Given the description of an element on the screen output the (x, y) to click on. 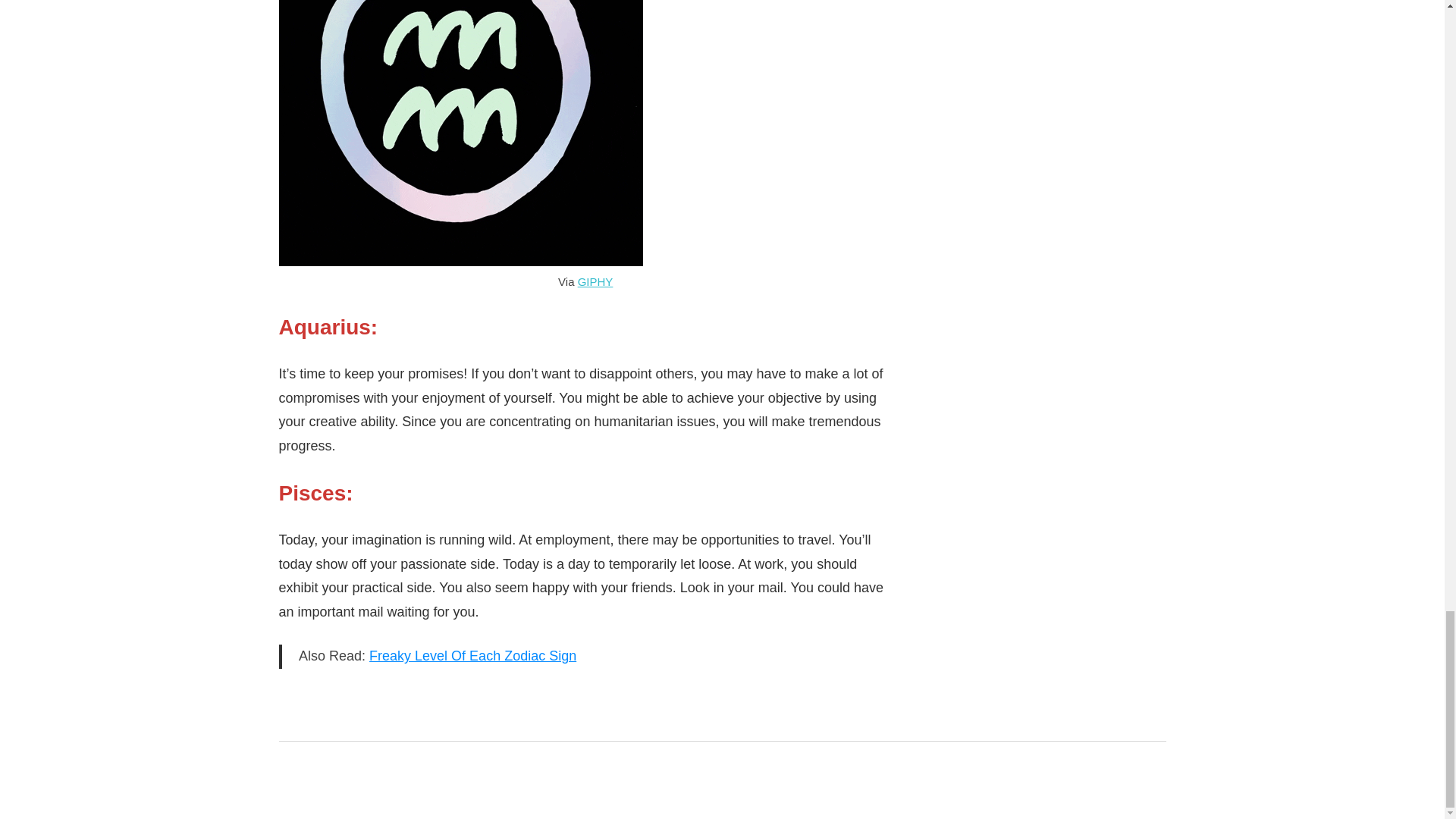
GIPHY (595, 281)
Freaky Level Of Each Zodiac Sign (472, 655)
